Given the description of an element on the screen output the (x, y) to click on. 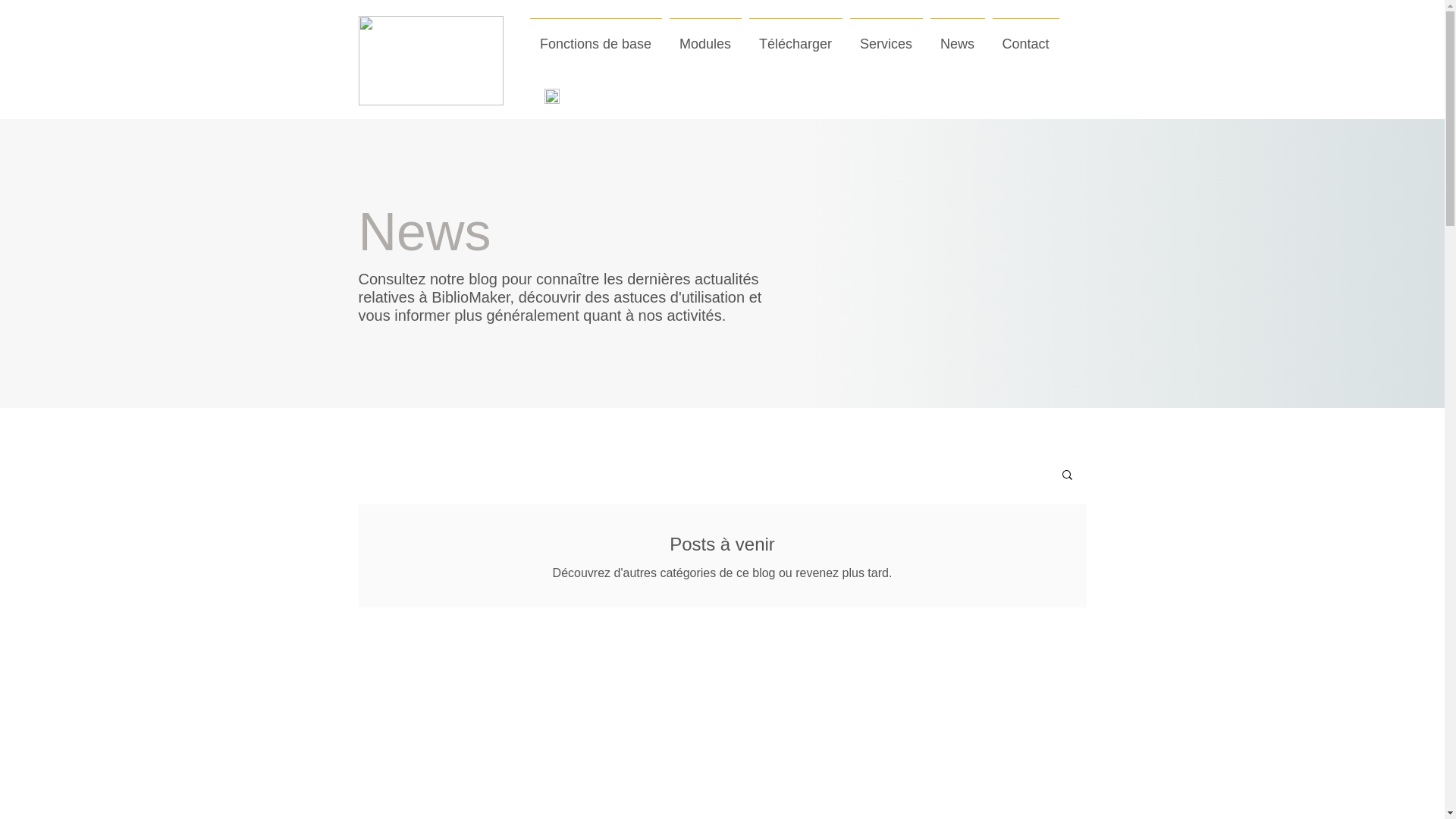
Modules Element type: text (705, 37)
Services Element type: text (886, 37)
Fonctions de base Element type: text (595, 37)
Contact Element type: text (1025, 37)
News Element type: text (957, 37)
